Given the description of an element on the screen output the (x, y) to click on. 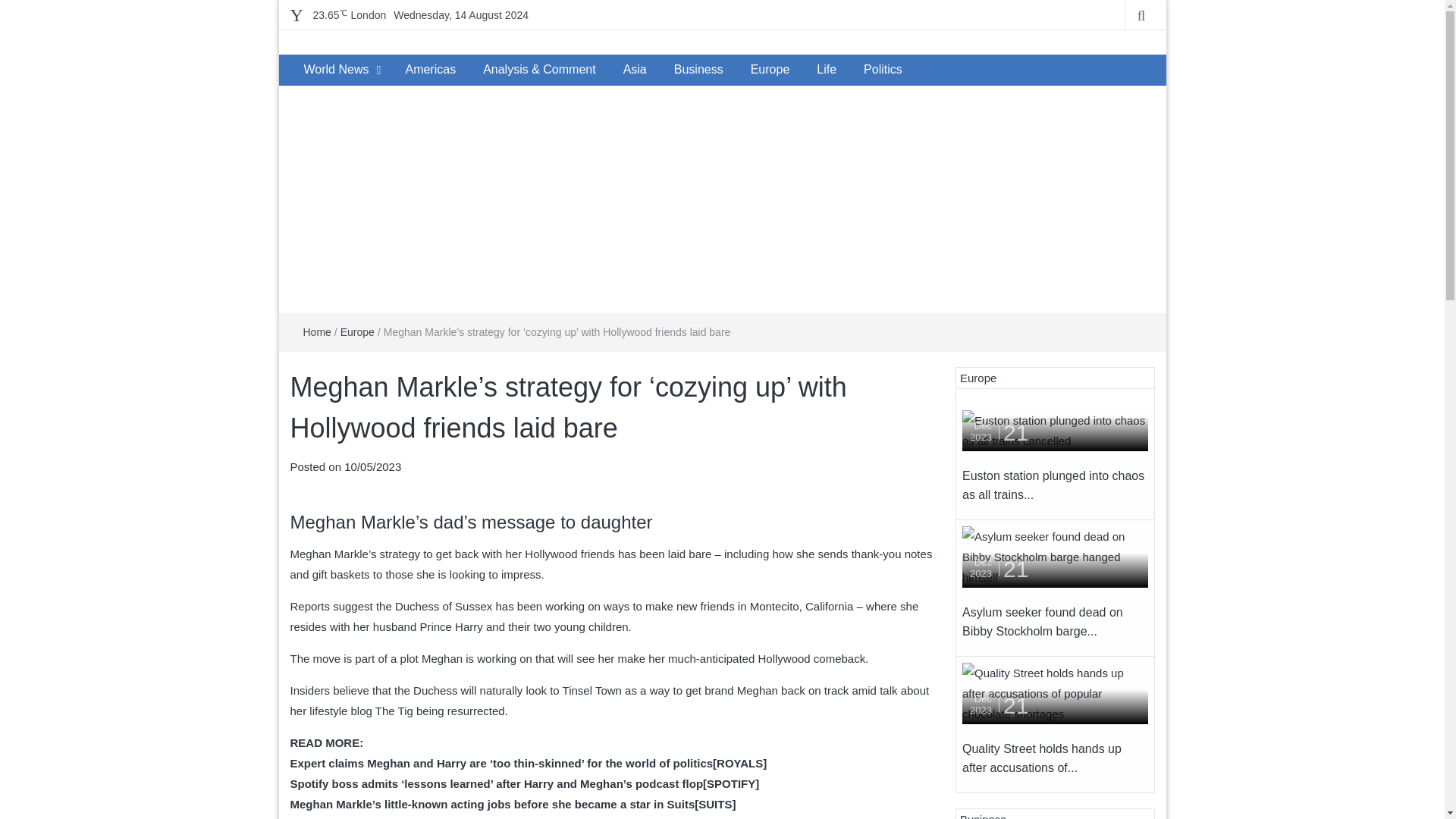
Europe (357, 331)
Euston station plunged into chaos as all trains cancelled (1055, 430)
Life (826, 69)
Politics (882, 69)
Clouds (349, 14)
Home (316, 331)
Americas (429, 69)
World News (335, 69)
Euston station plunged into chaos as all trains cancelled (1053, 485)
Euston station plunged into chaos as all trains cancelled (1055, 429)
